Given the description of an element on the screen output the (x, y) to click on. 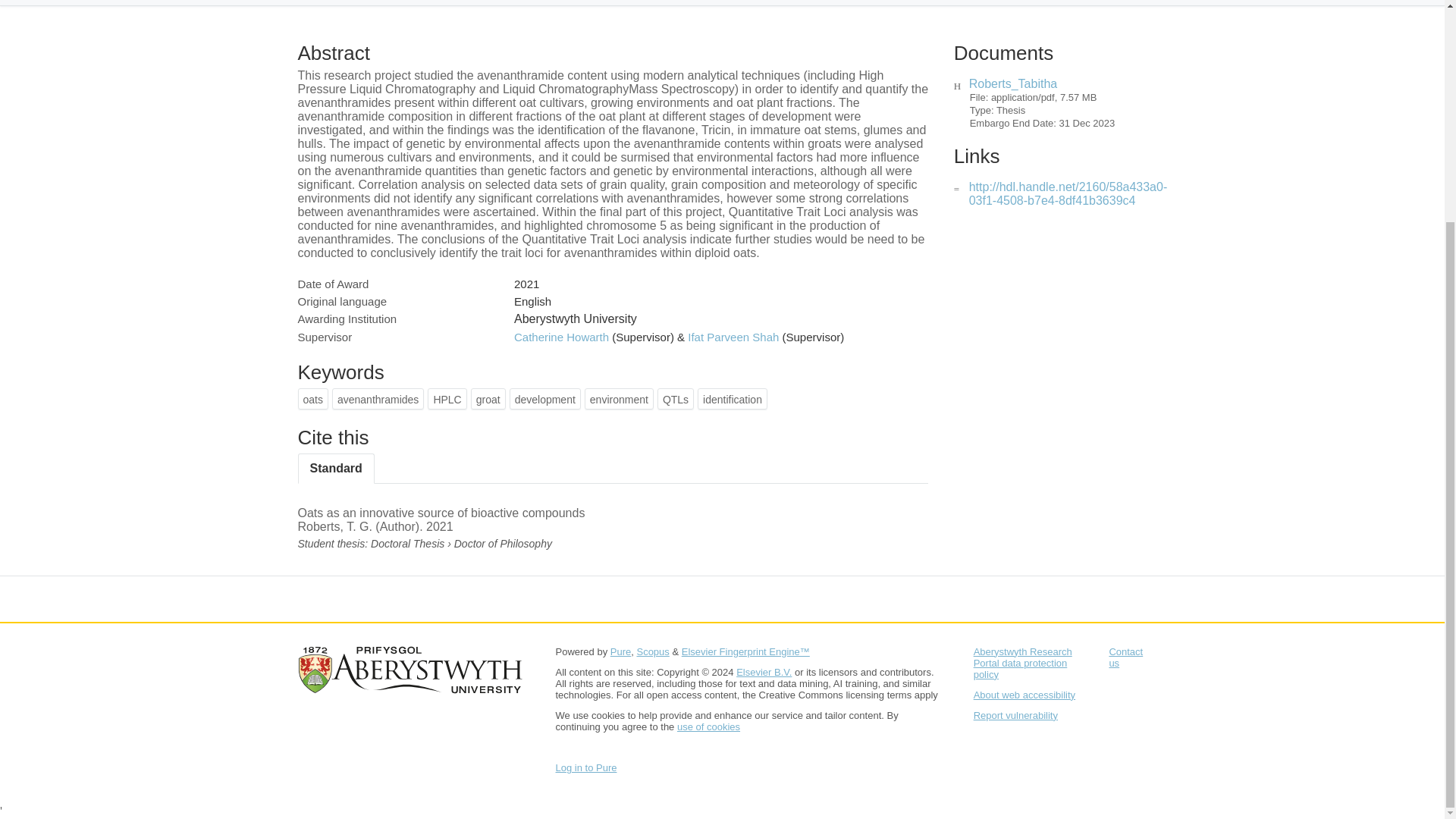
use of cookies (708, 726)
Ifat Parveen Shah (732, 336)
Elsevier B.V. (764, 672)
Log in to Pure (584, 767)
Aberystwyth Research Portal data protection policy (1022, 663)
About web accessibility (1024, 695)
Report vulnerability (1016, 715)
Catherine Howarth (560, 336)
Contact us (1125, 657)
Scopus (652, 651)
